Given the description of an element on the screen output the (x, y) to click on. 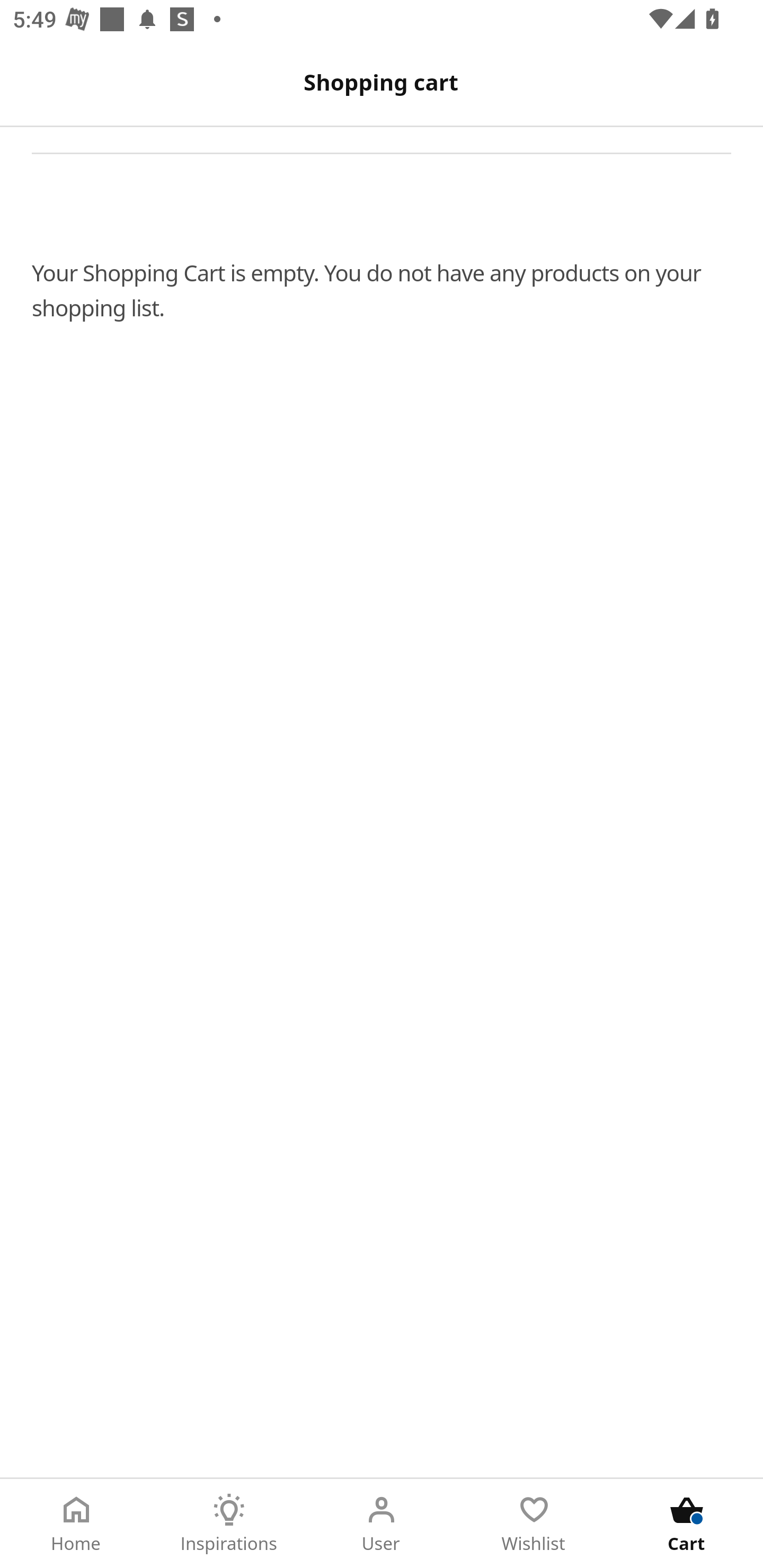
Home
Tab 1 of 5 (76, 1522)
Inspirations
Tab 2 of 5 (228, 1522)
User
Tab 3 of 5 (381, 1522)
Wishlist
Tab 4 of 5 (533, 1522)
Cart
Tab 5 of 5 (686, 1522)
